Given the description of an element on the screen output the (x, y) to click on. 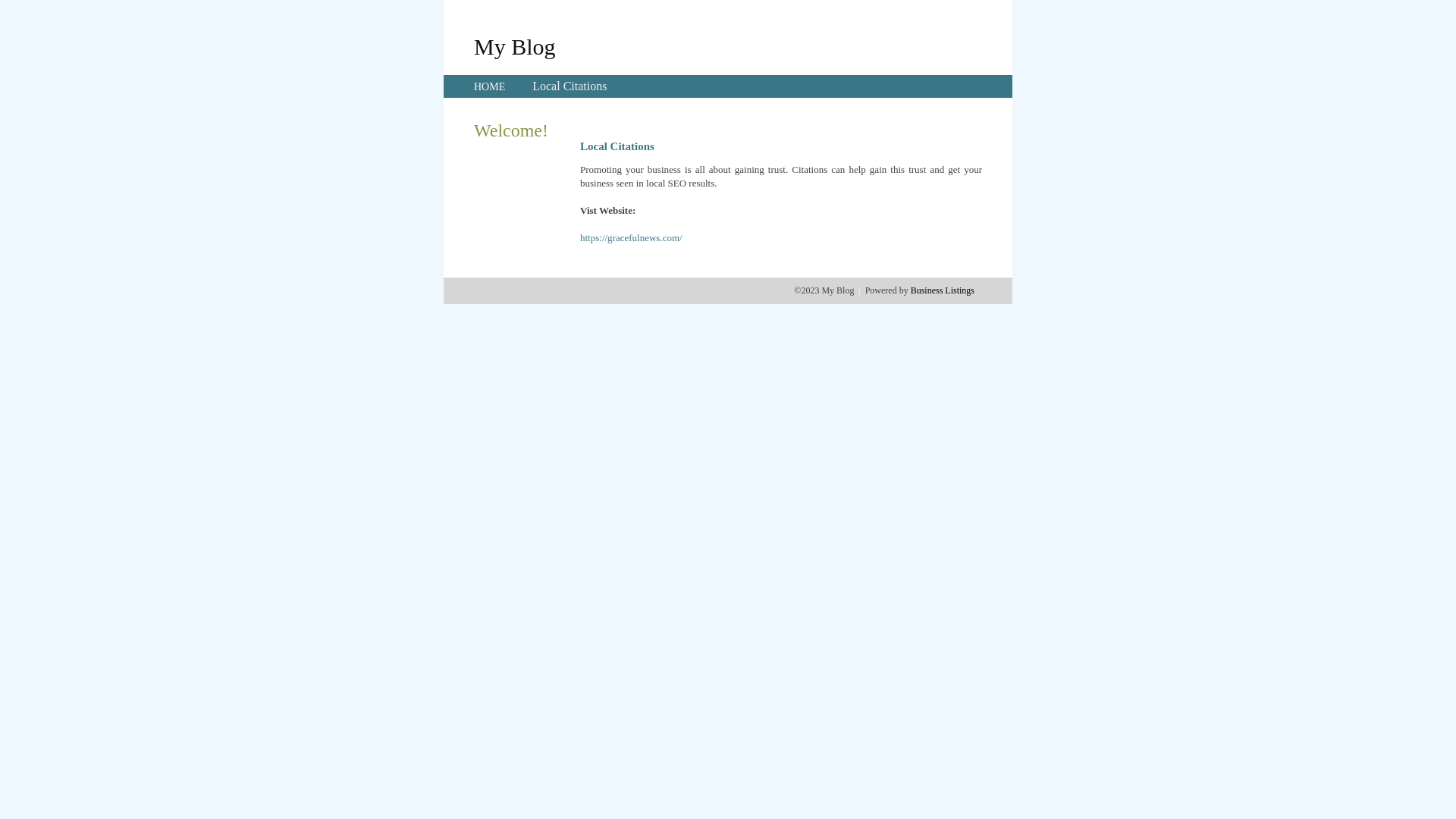
https://gracefulnews.com/ Element type: text (631, 237)
My Blog Element type: text (514, 46)
Business Listings Element type: text (942, 290)
HOME Element type: text (489, 86)
Local Citations Element type: text (569, 85)
